Given the description of an element on the screen output the (x, y) to click on. 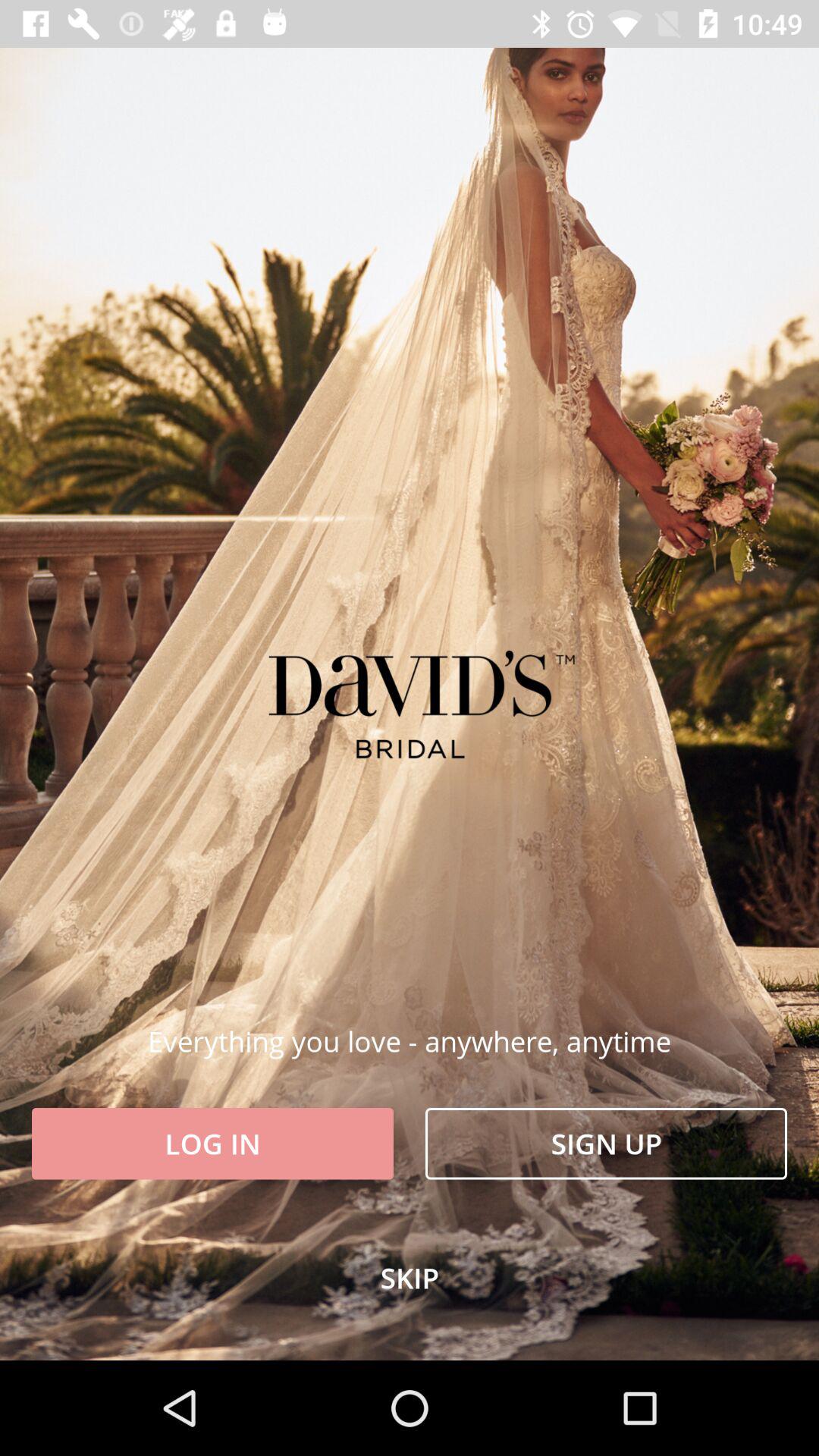
scroll to sign up (606, 1143)
